Given the description of an element on the screen output the (x, y) to click on. 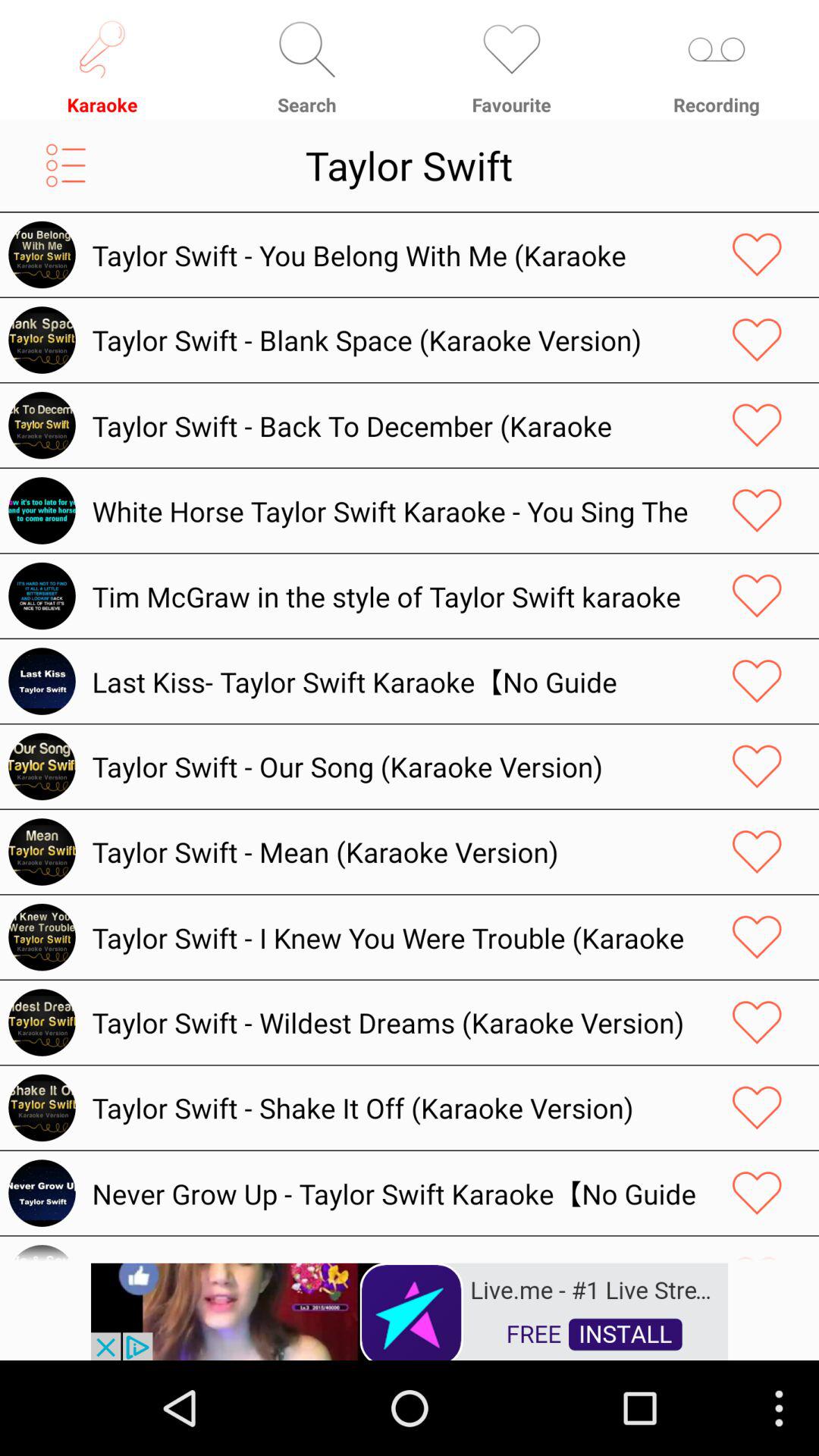
like (756, 425)
